Given the description of an element on the screen output the (x, y) to click on. 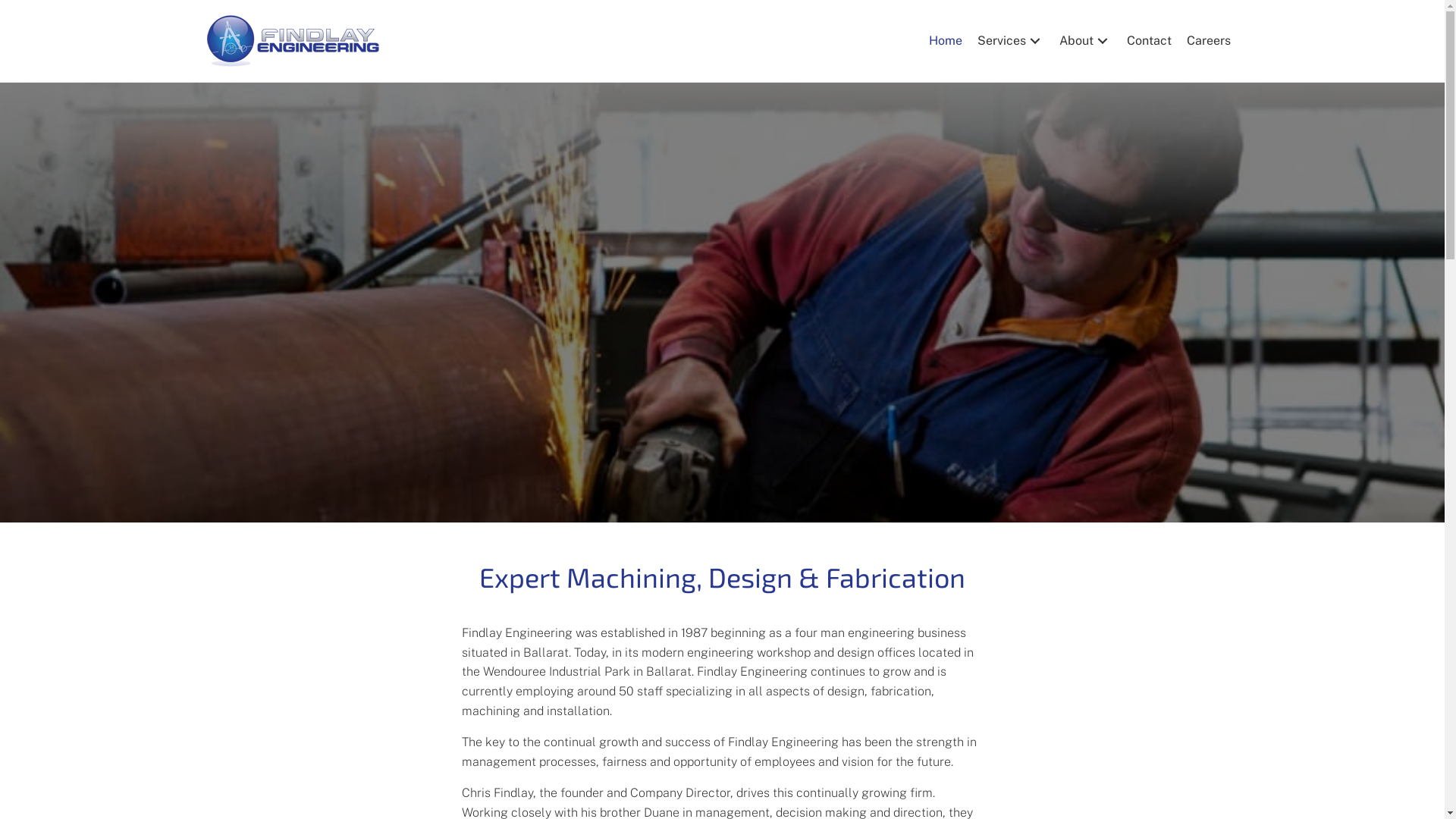
Careers Element type: text (1207, 40)
logo (1) Element type: hover (292, 40)
Services Element type: text (1010, 40)
Contact Element type: text (1149, 40)
Home Element type: text (944, 40)
About Element type: text (1084, 40)
